Given the description of an element on the screen output the (x, y) to click on. 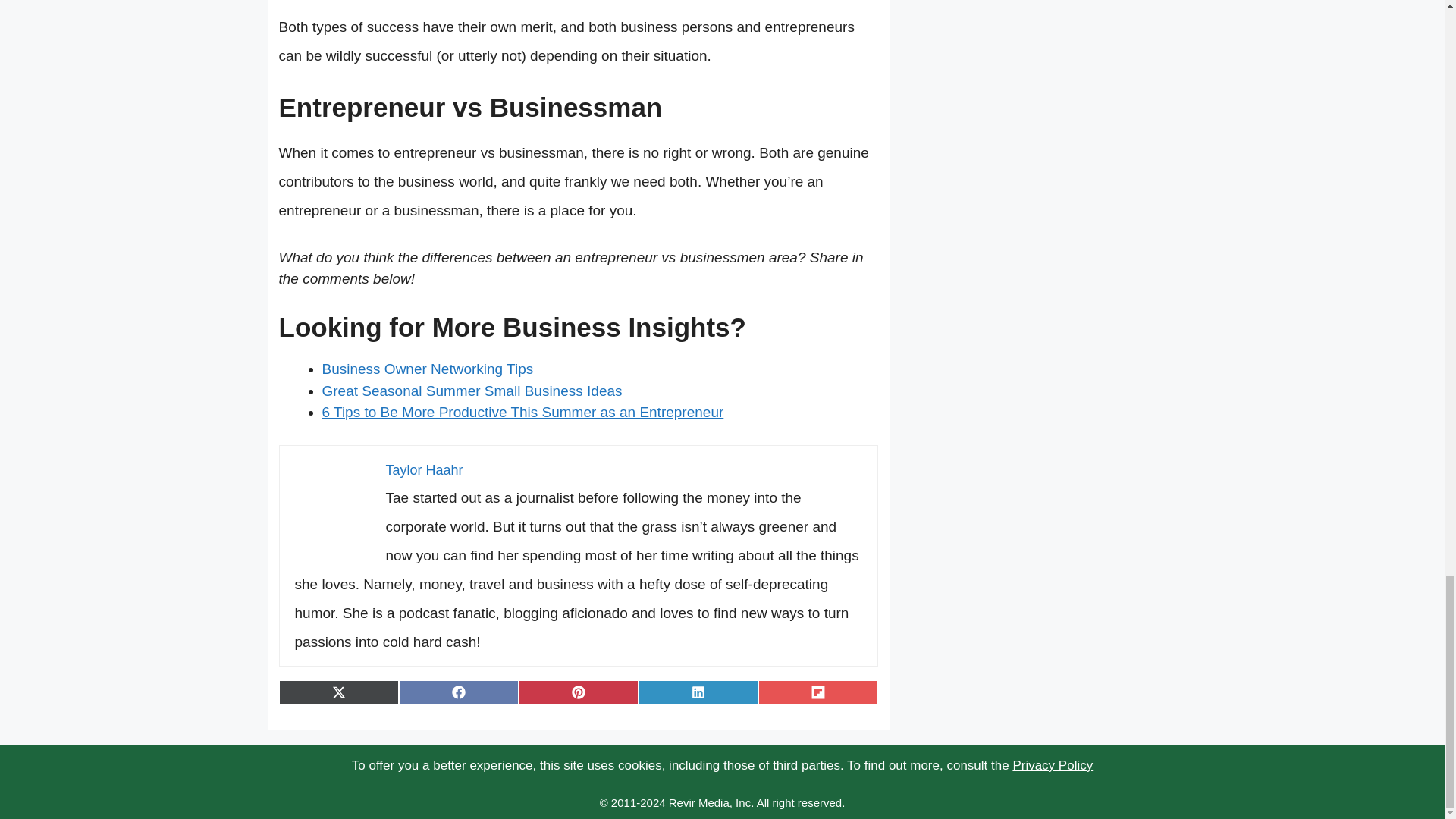
Share on Facebook (458, 692)
Business Owner Networking Tips (426, 368)
Share on Pinterest (578, 692)
Great Seasonal Summer Small Business Ideas (471, 390)
6 Tips to Be More Productive This Summer as an Entrepreneur (522, 412)
Taylor Haahr (424, 469)
Share on Flip it (817, 692)
Share on LinkedIn (698, 692)
